Given the description of an element on the screen output the (x, y) to click on. 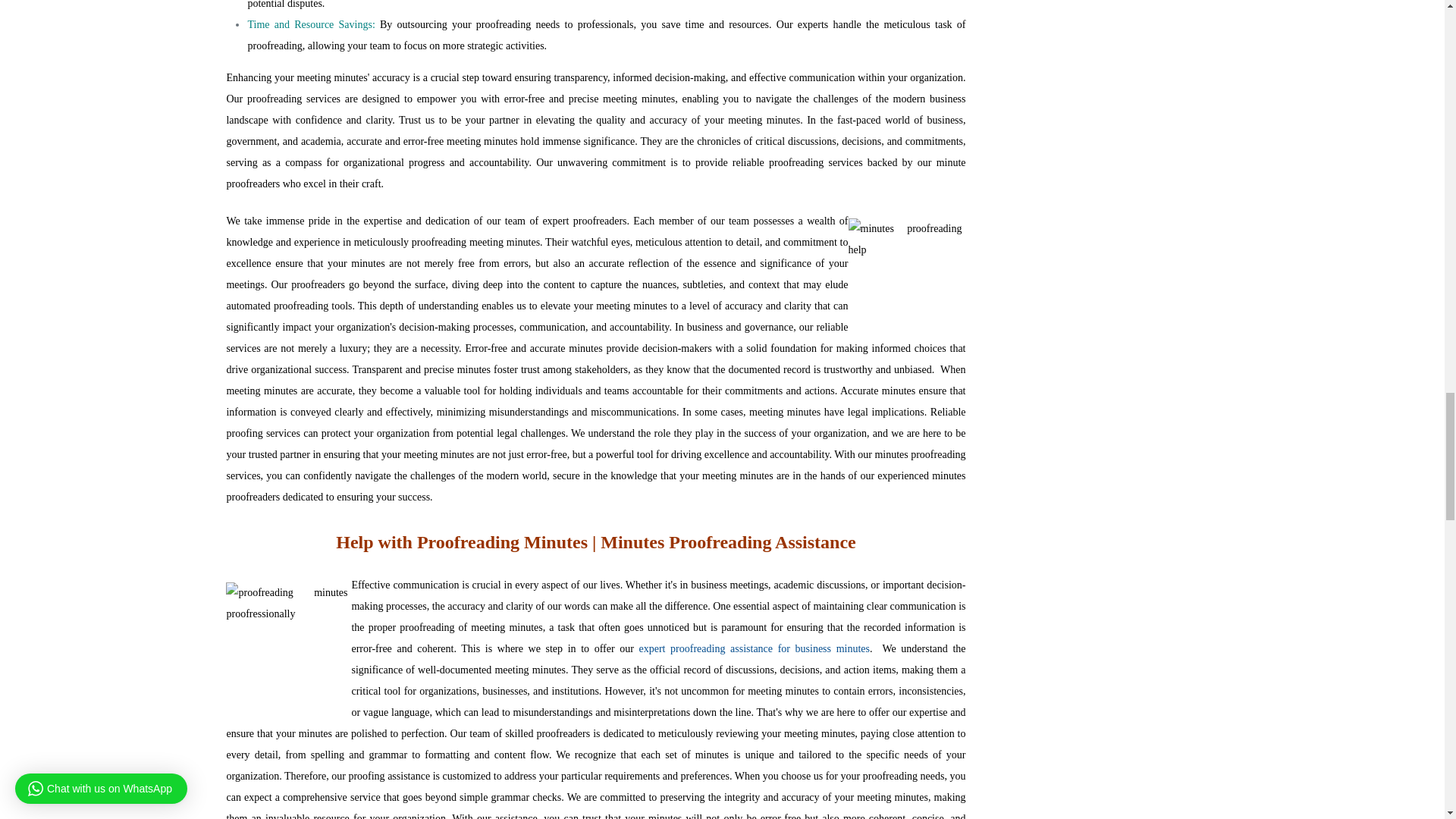
expert proofreading assistance for business minutes (754, 648)
